Given the description of an element on the screen output the (x, y) to click on. 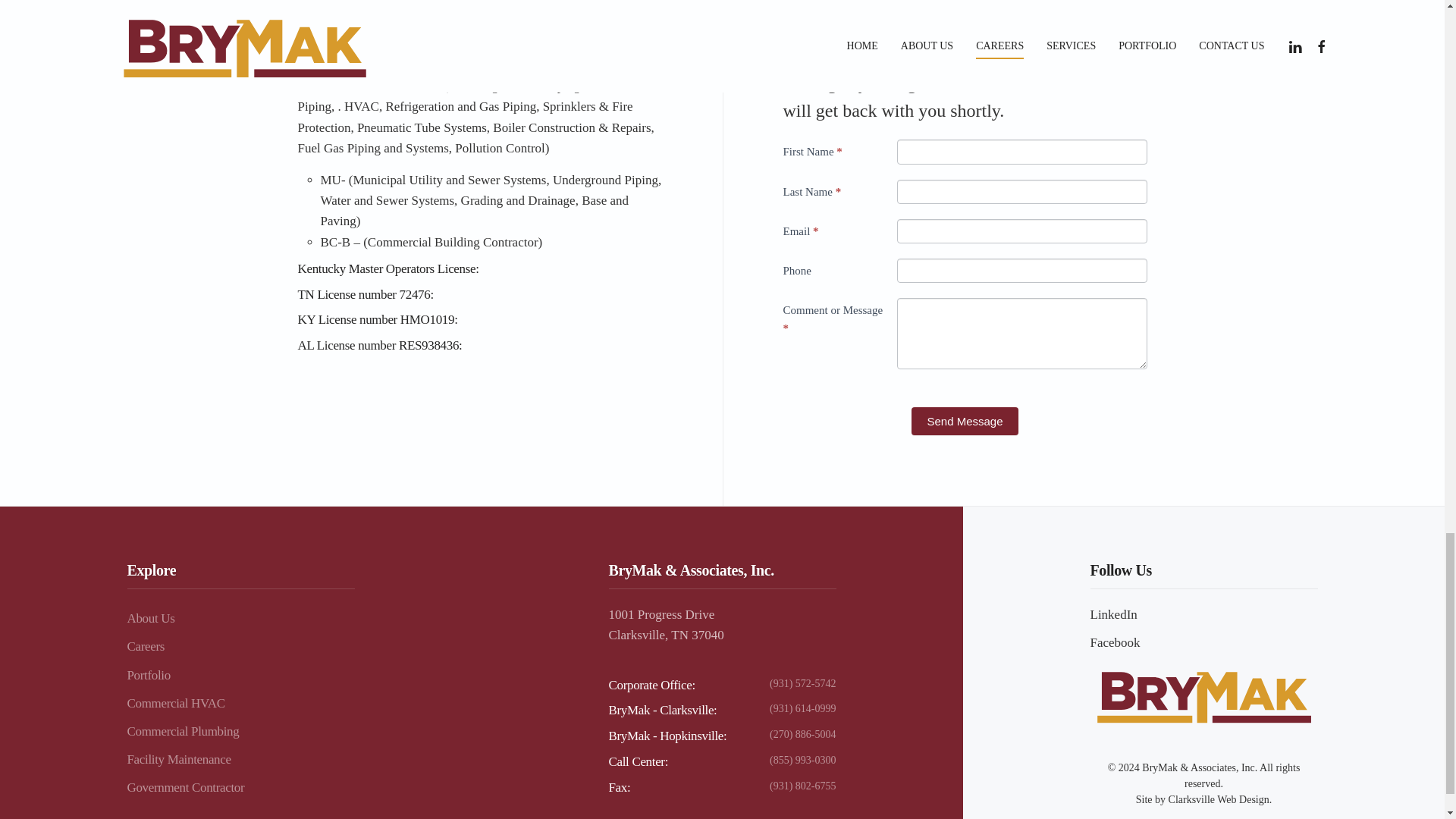
Careers (241, 646)
About Us (241, 618)
Send Message (964, 420)
Portfolio (241, 674)
